Given the description of an element on the screen output the (x, y) to click on. 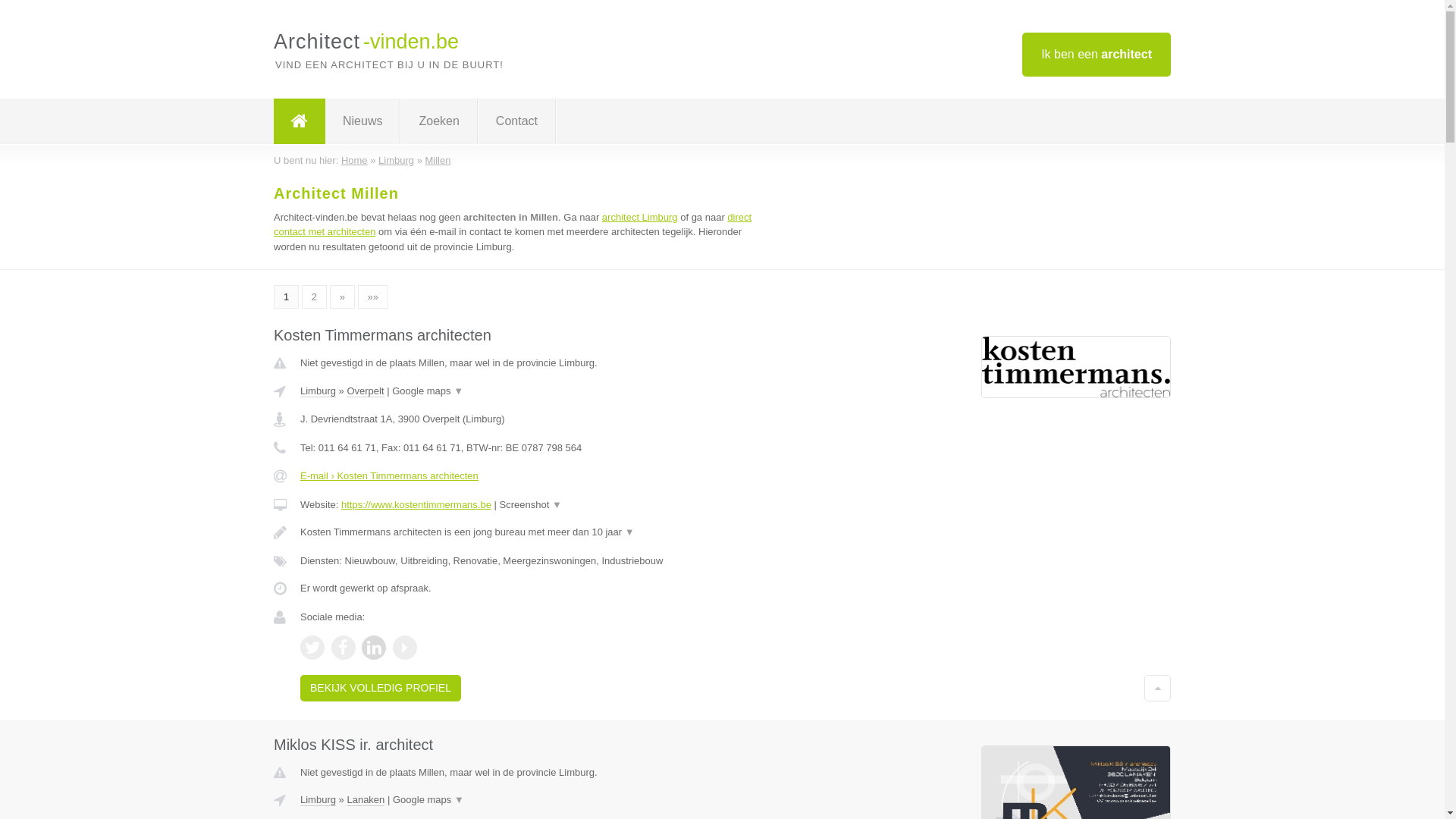
Limburg Element type: text (317, 391)
Contact Element type: text (516, 121)
Overpelt Element type: text (364, 391)
direct contact met architecten Element type: text (512, 224)
Ga naar de boven Element type: hover (1157, 687)
Home Element type: text (354, 160)
Zoeken Element type: text (438, 121)
Miklos KISS ir. architect Element type: text (353, 744)
Millen Element type: text (437, 160)
Architect Element type: hover (299, 121)
Limburg Element type: text (317, 799)
Architect-vinden.be Element type: text (365, 41)
Lanaken Element type: text (365, 799)
1 Element type: text (285, 296)
Ik ben een architect Element type: text (1096, 54)
BEKIJK VOLLEDIG PROFIEL Element type: text (380, 687)
Limburg Element type: text (396, 160)
Kosten Timmermans architecten Element type: text (382, 334)
2 Element type: text (313, 296)
architect Limburg Element type: text (639, 216)
https://www.kostentimmermans.be Element type: text (416, 504)
Nieuws Element type: text (362, 121)
